Given the description of an element on the screen output the (x, y) to click on. 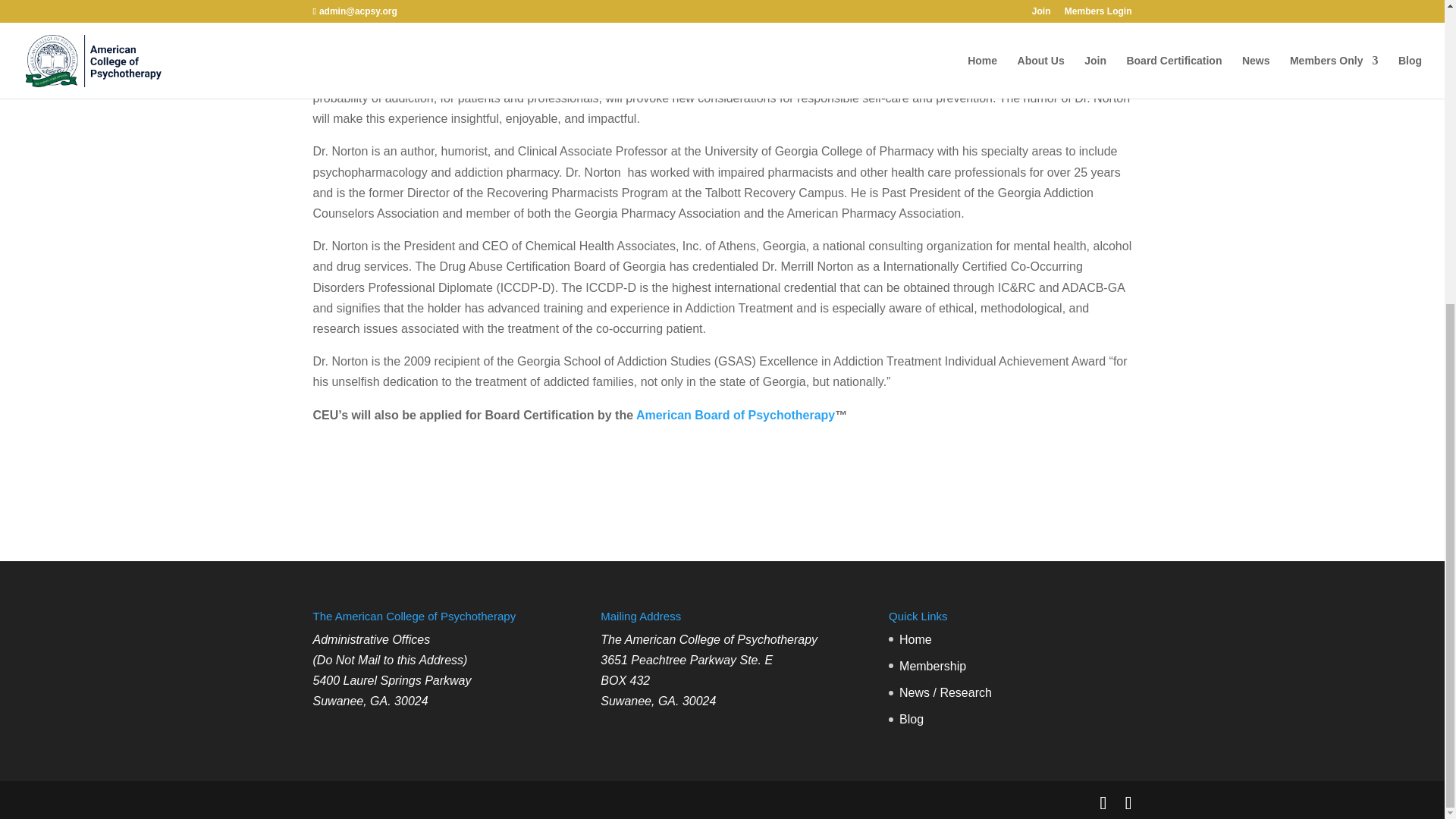
American Board of Psychotherapy (735, 414)
Home (915, 639)
Membership (932, 666)
